Given the description of an element on the screen output the (x, y) to click on. 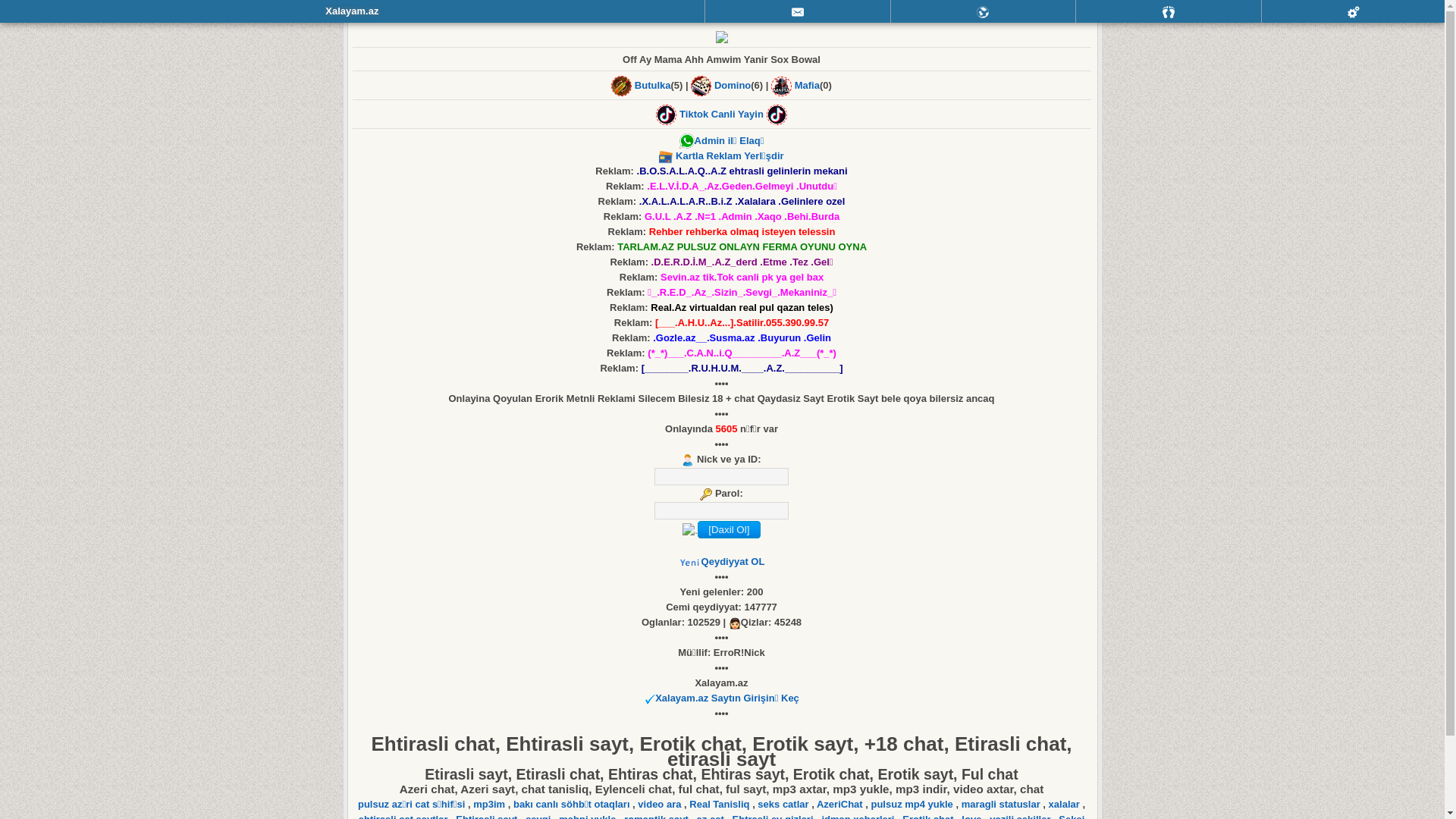
nick Element type: hover (721, 476)
.Gozle.az__.Susma.az .Buyurun .Gelin Element type: text (741, 337)
Qeydiyyat OL Element type: text (733, 561)
Real Tanisliq Element type: text (720, 803)
Butulka Element type: text (652, 85)
Qonaqlar Element type: hover (1168, 11)
mp3im Element type: text (490, 803)
.X.A.L.A.L.A.R..B.i.Z .Xalalara .Gelinlere ozel Element type: text (742, 201)
seks catlar Element type: text (784, 803)
Sevin.az tik.Tok canli pk ya gel bax Element type: text (741, 276)
[________.R.U.H.U.M.____.A.Z.__________] Element type: text (742, 367)
Rehber rehberka olmaq isteyen telessin Element type: text (742, 231)
[___.A.H.U..Az...].Satilir.055.390.99.57 Element type: text (741, 322)
Mesajlar Element type: hover (797, 11)
G.U.L .A.Z .N=1 .Admin .Xaqo .Behi.Burda Element type: text (741, 216)
.B.O.S.A.L.A.Q..A.Z ehtrasli gelinlerin mekani Element type: text (742, 170)
maragli statuslar Element type: text (1002, 803)
Parol Element type: hover (721, 510)
xalalar Element type: text (1065, 803)
[Daxil Ol] Element type: text (728, 529)
AzeriChat Element type: text (840, 803)
TARLAM.AZ PULSUZ ONLAYN FERMA OYUNU OYNA Element type: text (741, 246)
(*_*)___.C.A.N..i.Q_________.A.Z___(*_*) Element type: text (741, 352)
pulsuz mp4 yukle Element type: text (912, 803)
Tiktok Canli Yayin Element type: text (721, 113)
video ara Element type: text (660, 803)
Domino Element type: text (732, 85)
Mafia Element type: text (806, 85)
Real.Az virtualdan real pul qazan teles) Element type: text (741, 307)
